Given the description of an element on the screen output the (x, y) to click on. 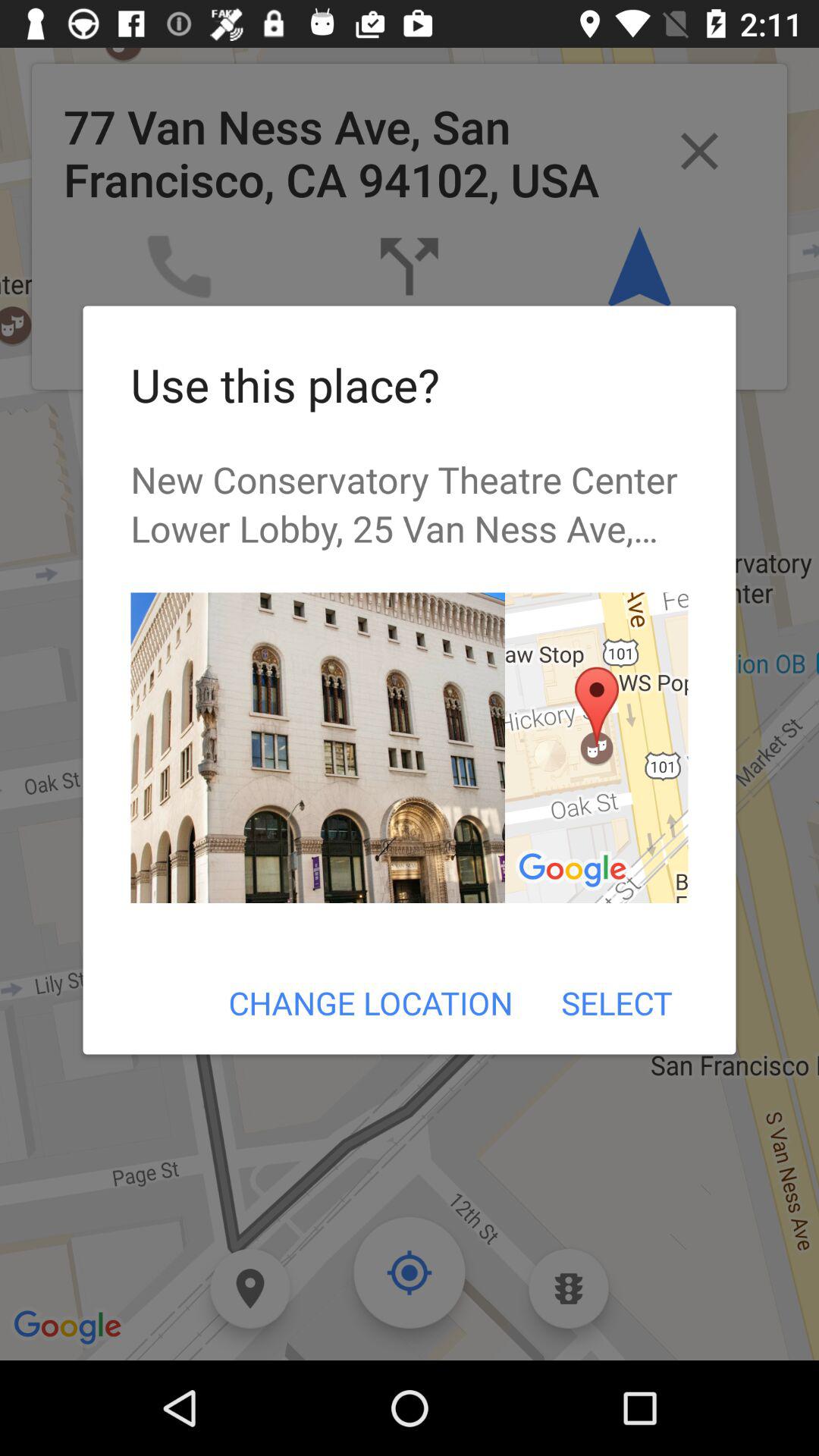
tap the icon above the change location icon (596, 747)
